Given the description of an element on the screen output the (x, y) to click on. 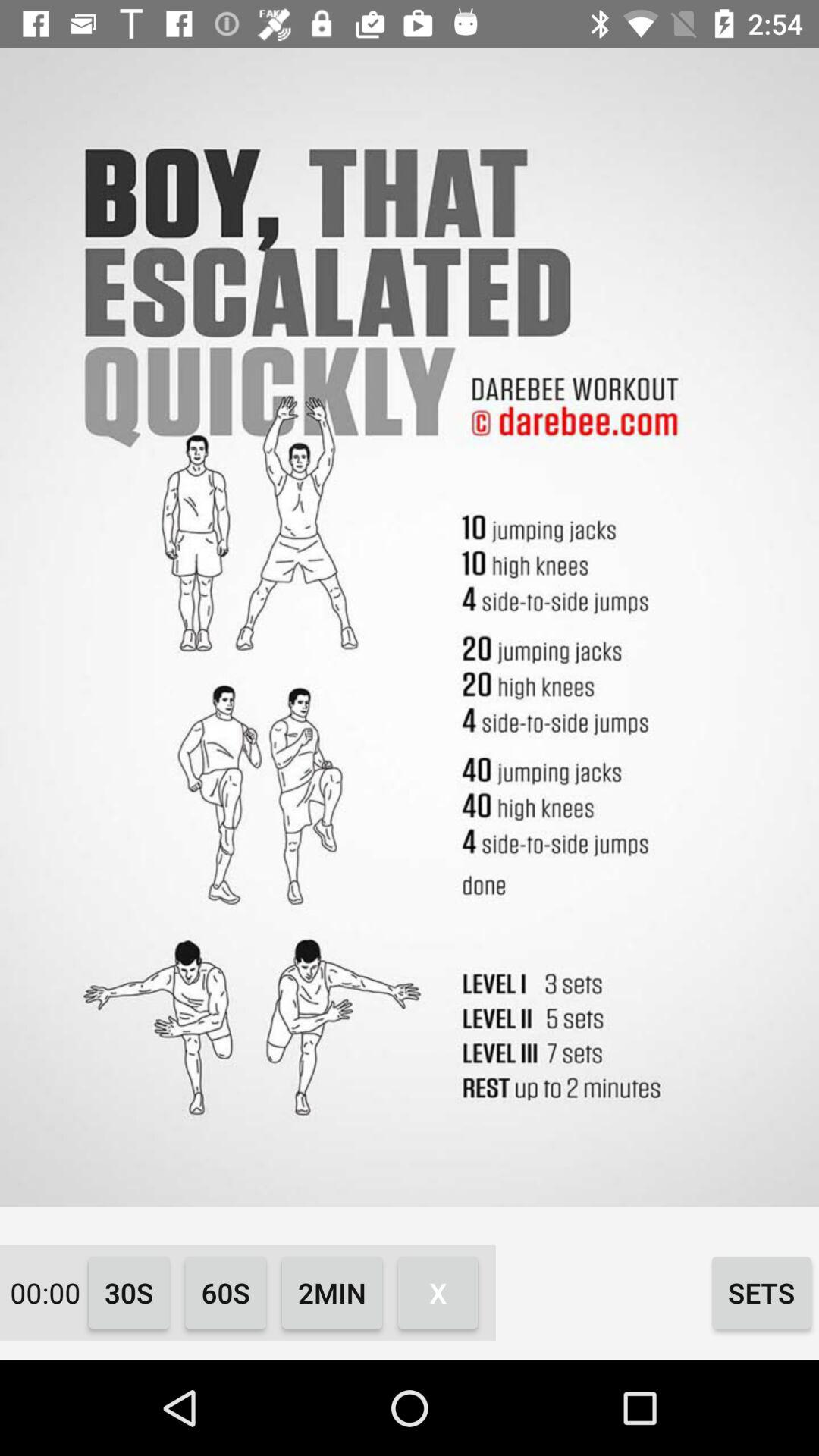
choose the icon to the right of the 30s item (225, 1292)
